Given the description of an element on the screen output the (x, y) to click on. 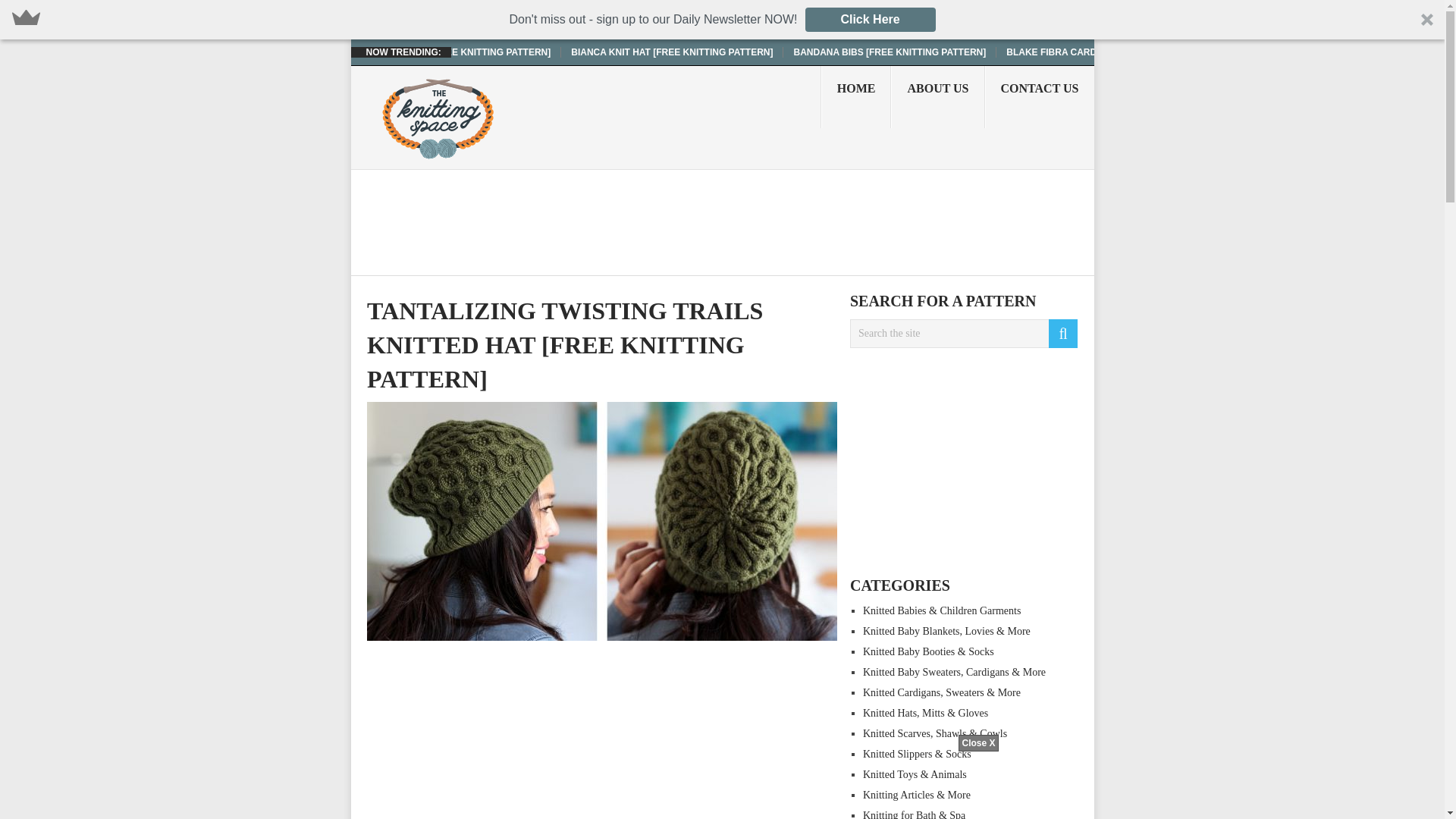
HOME (856, 96)
Advertisement (601, 736)
ABOUT US (937, 96)
CONTACT US (1039, 96)
3rd party ad content (642, 222)
Close X (977, 742)
3rd party ad content (721, 785)
Click Here (870, 19)
